Given the description of an element on the screen output the (x, y) to click on. 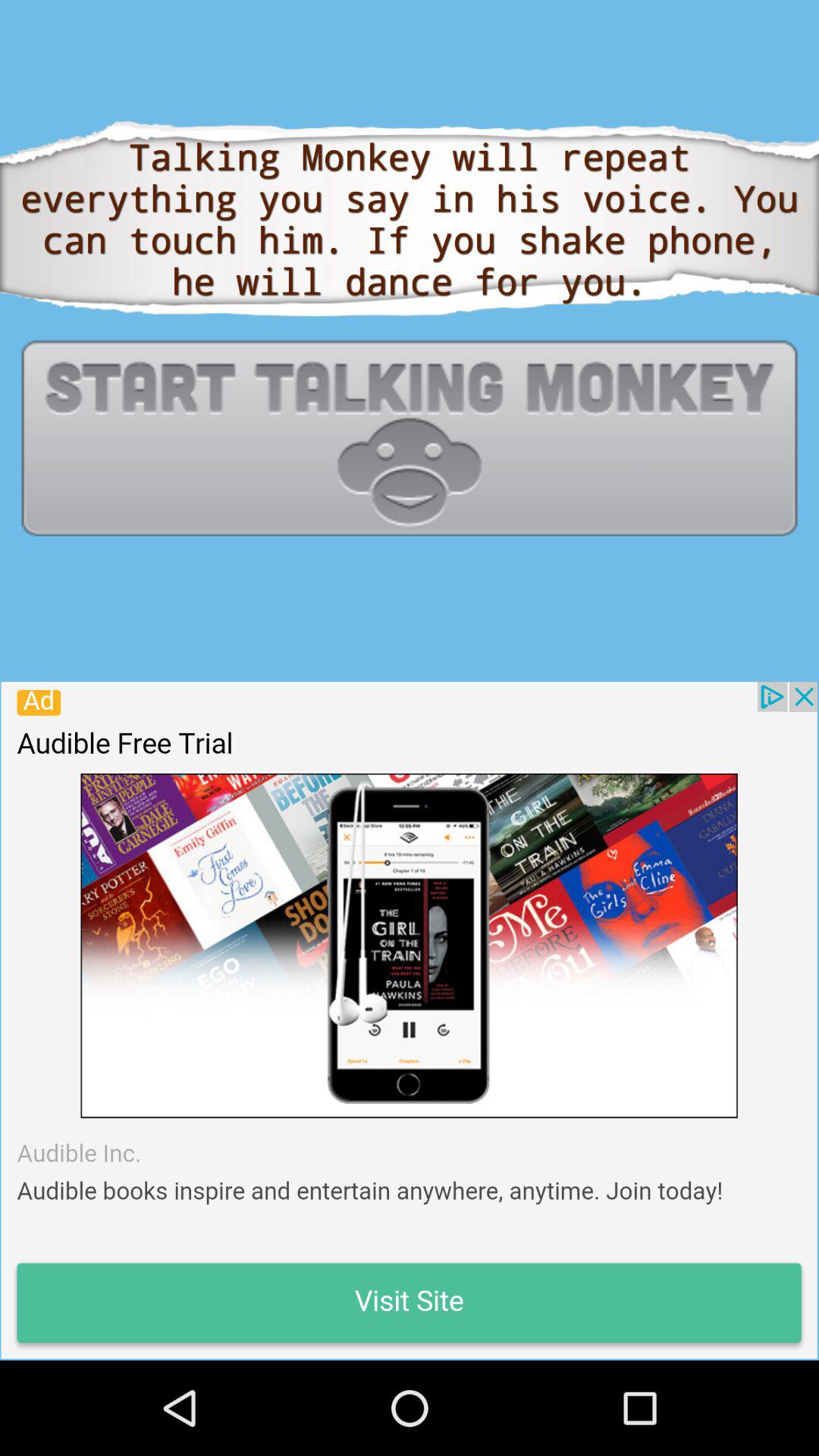
advetisement (409, 1019)
